Given the description of an element on the screen output the (x, y) to click on. 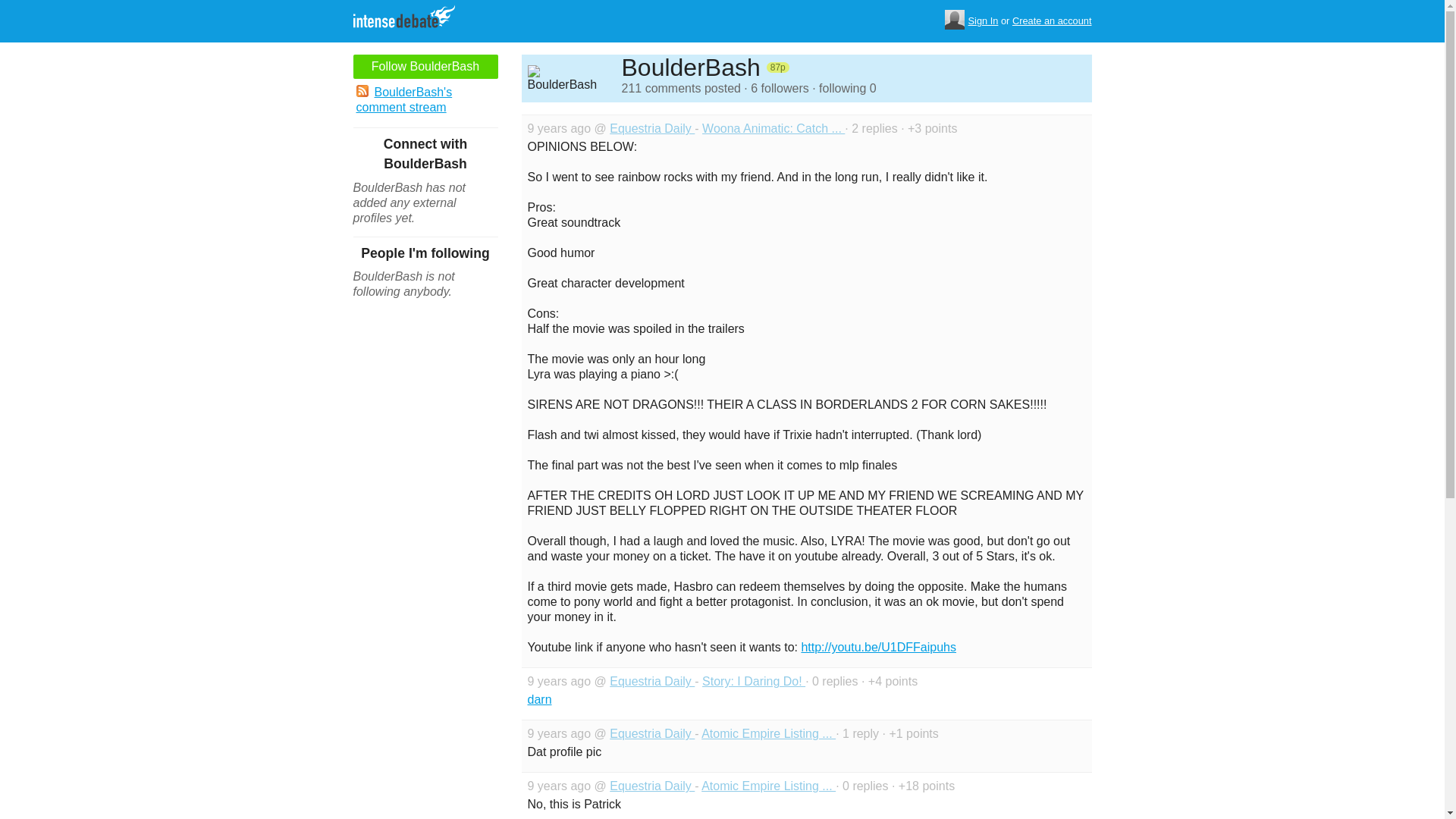
darn (539, 698)
Atomic Empire Listing ... (768, 785)
Woona Animatic: Catch ... (772, 128)
Story: I Daring Do! (753, 680)
Sign In (983, 21)
Create an account (1051, 21)
Atomic Empire Listing ... (768, 733)
Equestria Daily (652, 733)
Equestria Daily (652, 680)
